Given the description of an element on the screen output the (x, y) to click on. 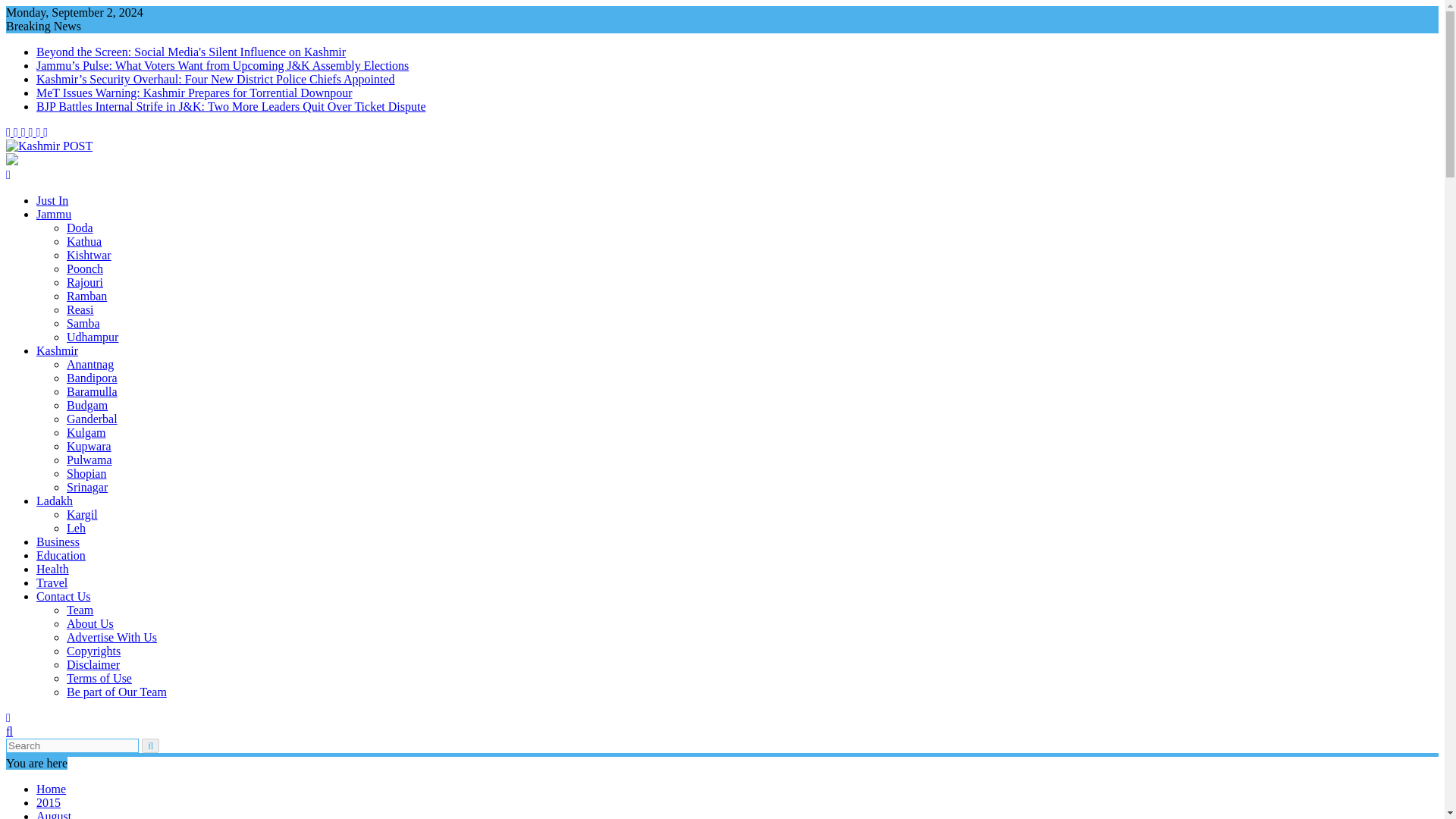
MeT Issues Warning: Kashmir Prepares for Torrential Downpour (194, 92)
Ganderbal (91, 418)
Samba (83, 323)
Ladakh (54, 500)
Jammu (53, 214)
Doda (79, 227)
Ramban (86, 295)
Kargil (81, 513)
Kupwara (89, 445)
